Given the description of an element on the screen output the (x, y) to click on. 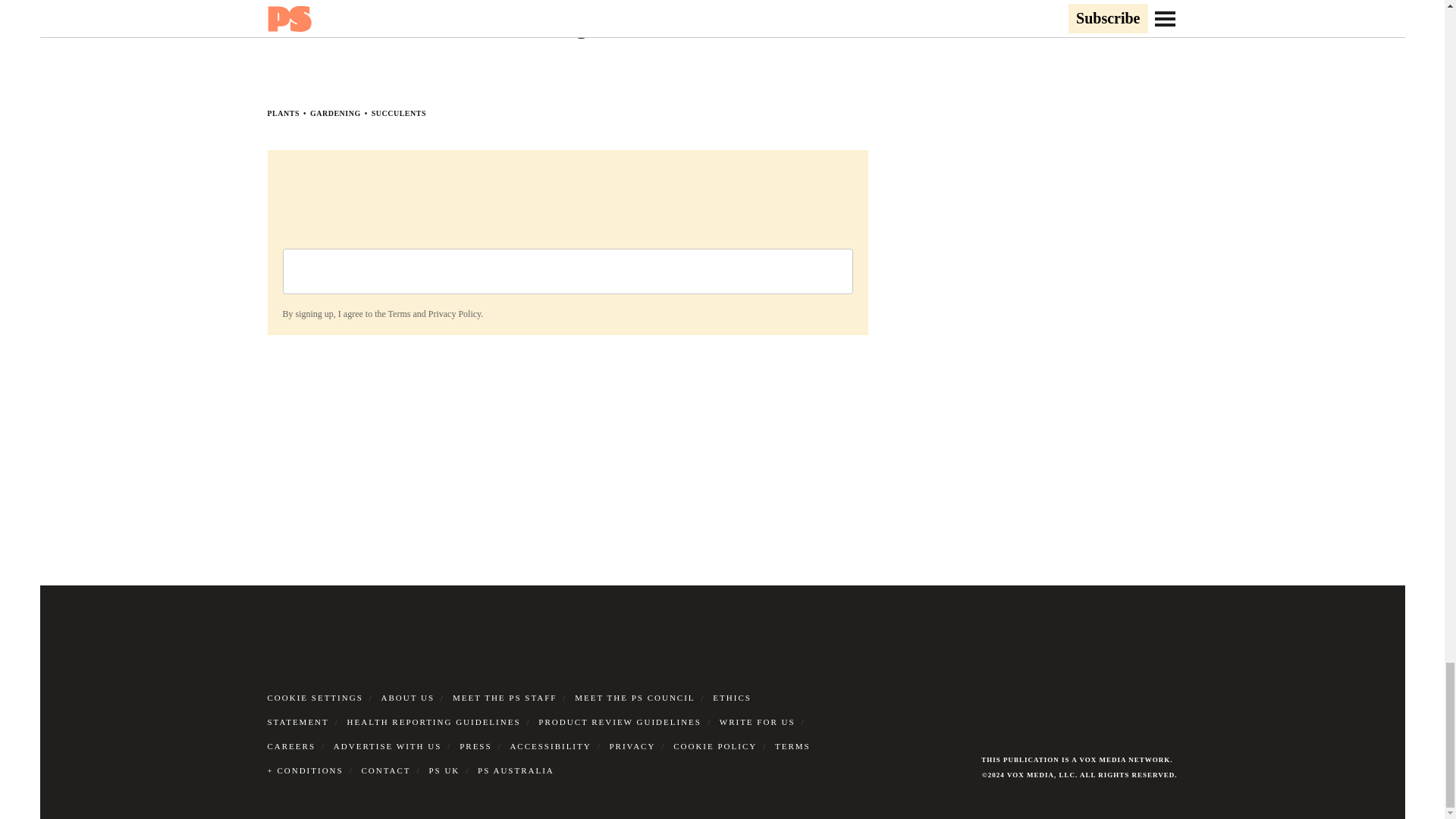
HEALTH REPORTING GUIDELINES (434, 721)
GARDENING (335, 112)
MEET THE PS COUNCIL (634, 697)
SUCCULENTS (398, 112)
Terms (399, 313)
Privacy Policy. (455, 313)
WRITE FOR US (756, 721)
PRODUCT REVIEW GUIDELINES (619, 721)
CAREERS (290, 746)
PLANTS (282, 112)
